Given the description of an element on the screen output the (x, y) to click on. 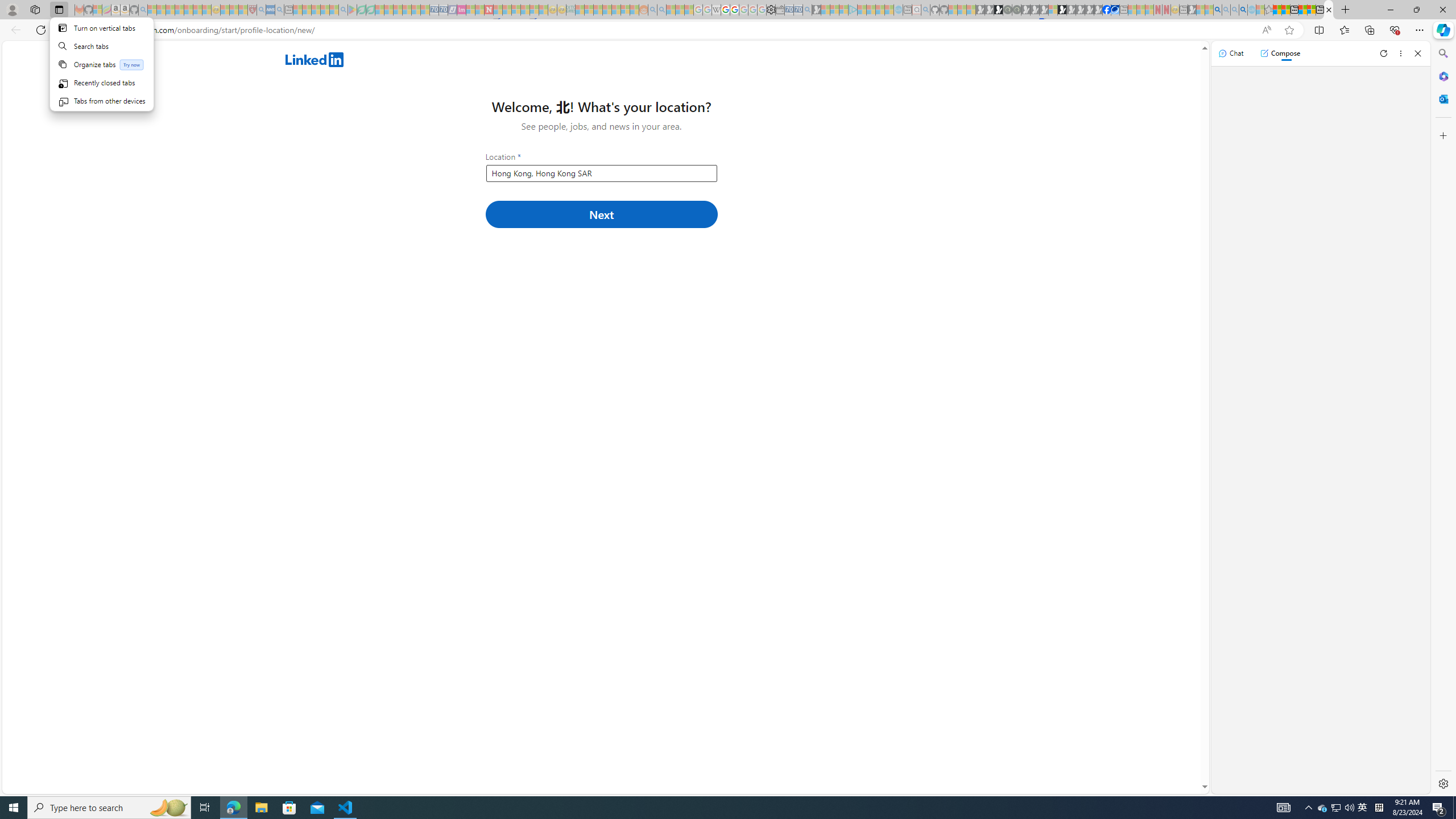
Nordace | Facebook (1106, 9)
Local - MSN - Sleeping (242, 9)
Target page - Wikipedia - Sleeping (716, 9)
github - Search - Sleeping (924, 9)
google - Search - Sleeping (342, 9)
Privacy Help Center - Policies Help (725, 9)
Future Focus Report 2024 - Sleeping (1016, 9)
